Given the description of an element on the screen output the (x, y) to click on. 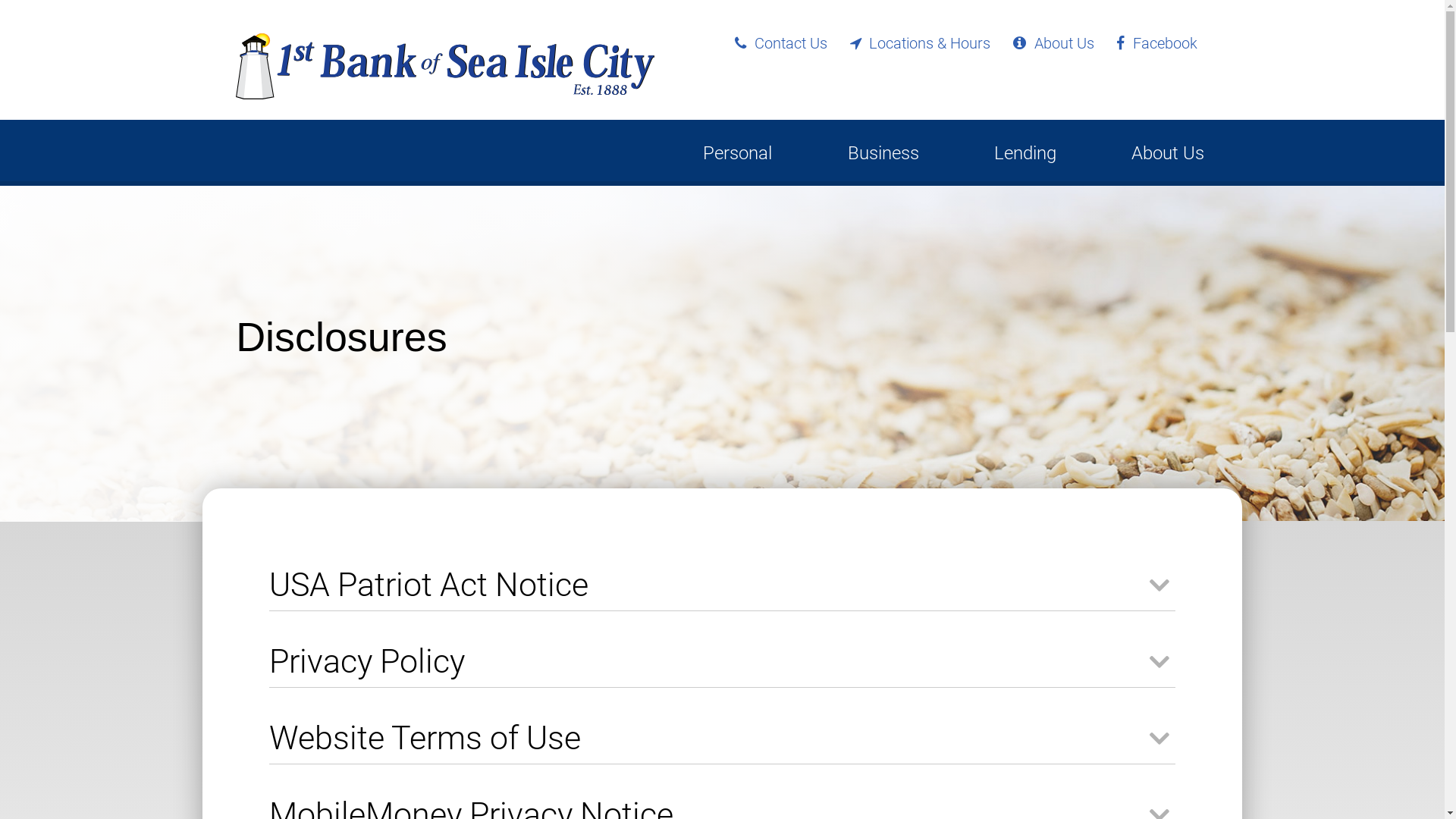
Locations & Hours Element type: text (919, 43)
About Us Element type: text (1052, 43)
Contact Us Element type: text (780, 43)
Facebook Element type: text (1156, 43)
